Given the description of an element on the screen output the (x, y) to click on. 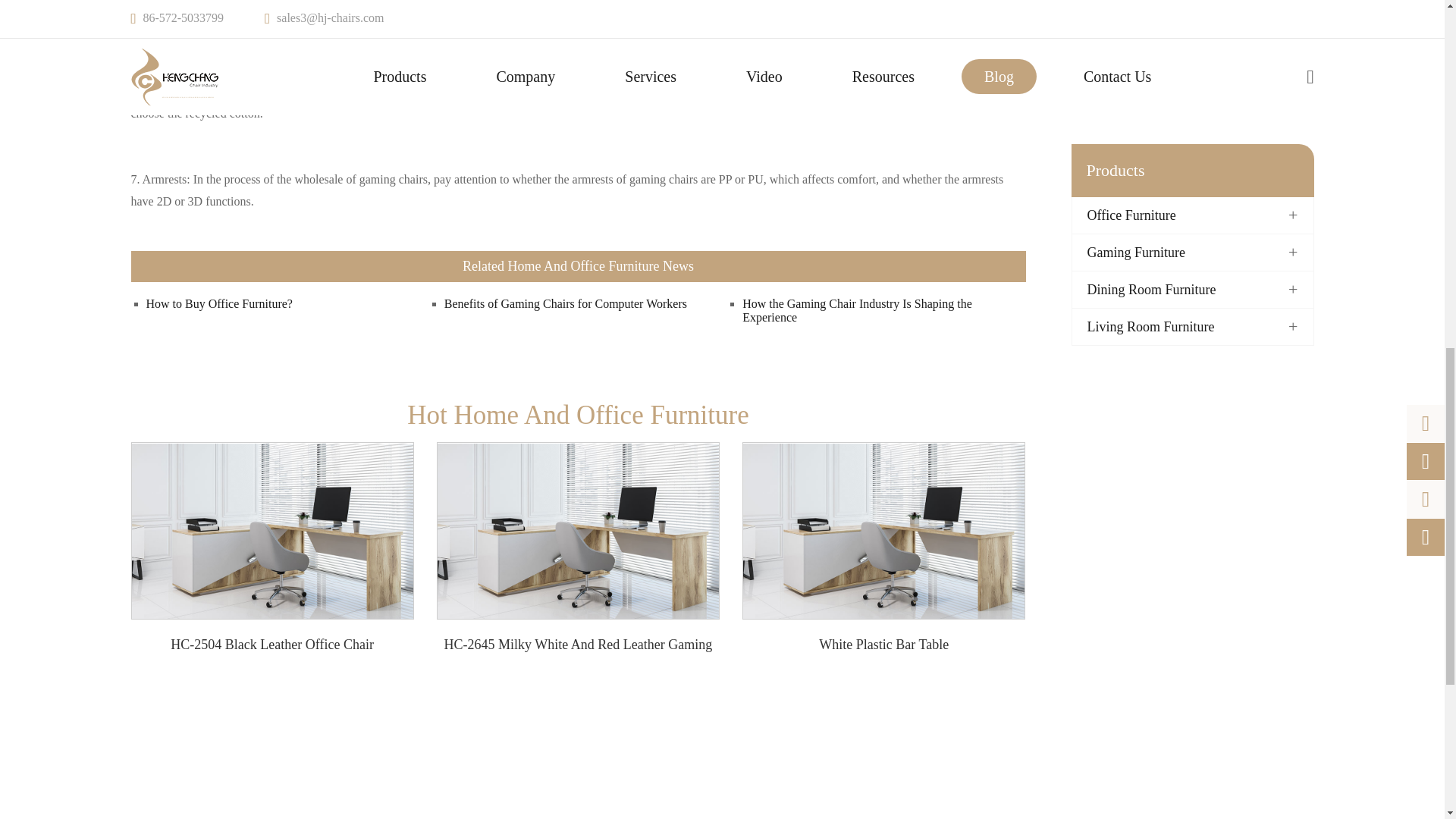
HC-2504 Black Leather Office Chair (272, 531)
White Plastic Bar Table (883, 531)
HC-2645 Milky White And Red Leather Gaming Chair (578, 531)
